Given the description of an element on the screen output the (x, y) to click on. 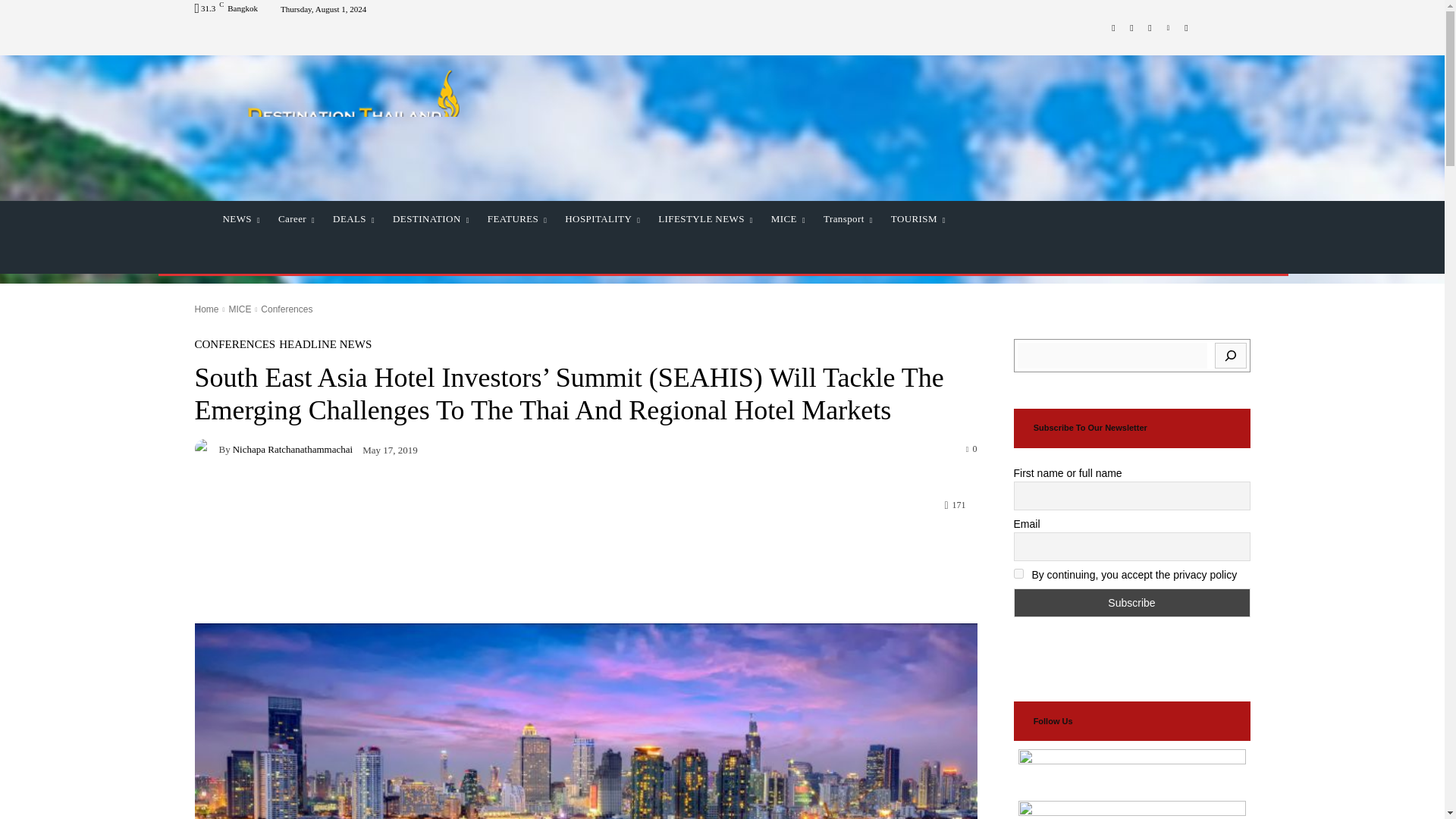
Facebook (1112, 27)
on (1018, 573)
Subscribe (1131, 602)
Instagram (1131, 27)
View all posts in Conferences (286, 308)
Vimeo (1167, 27)
Nichapa Ratchanathammachai (205, 448)
View all posts in MICE (239, 308)
Twitter (1149, 27)
Youtube (1185, 27)
